Given the description of an element on the screen output the (x, y) to click on. 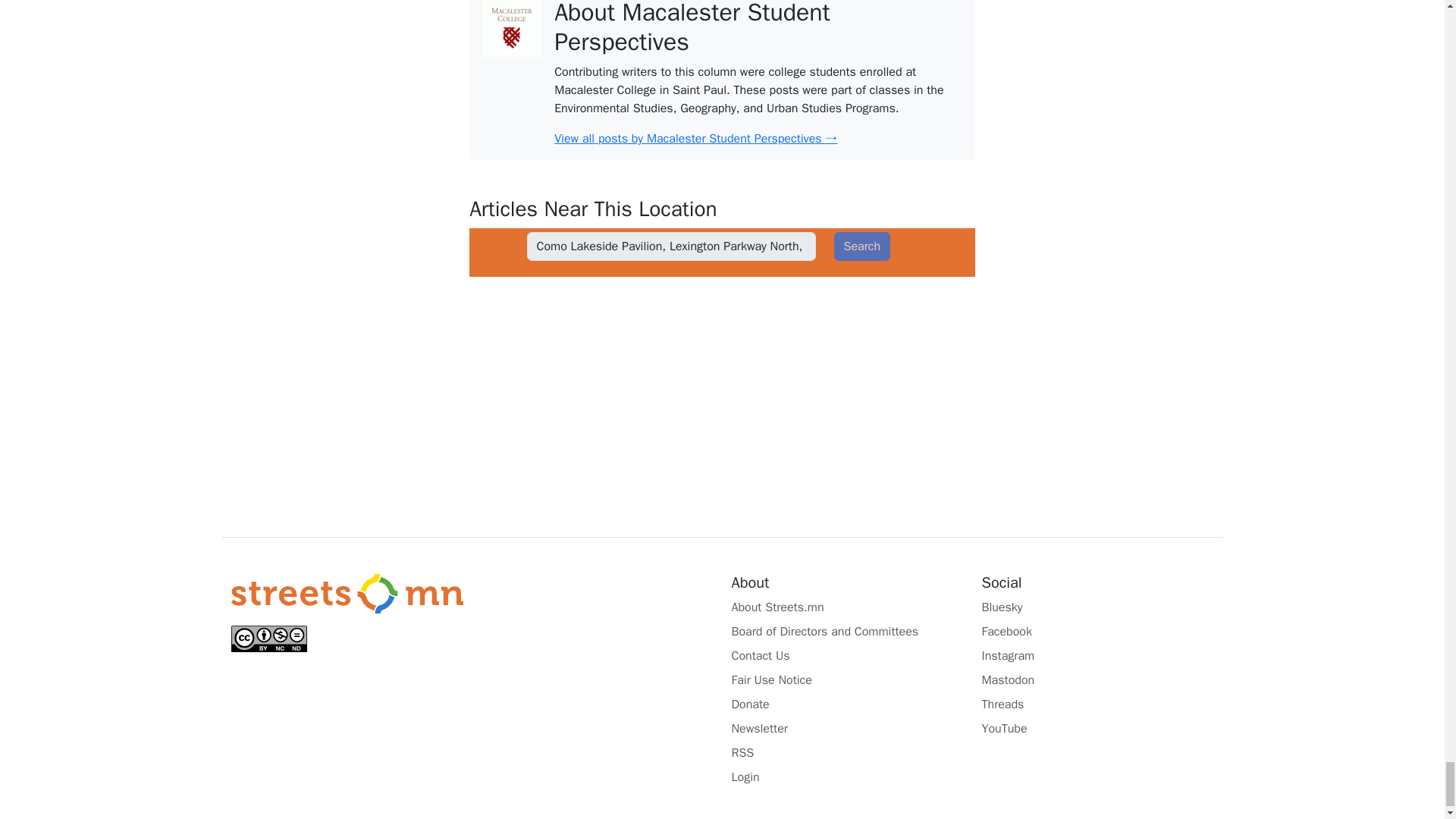
Streets.mn (346, 594)
